Given the description of an element on the screen output the (x, y) to click on. 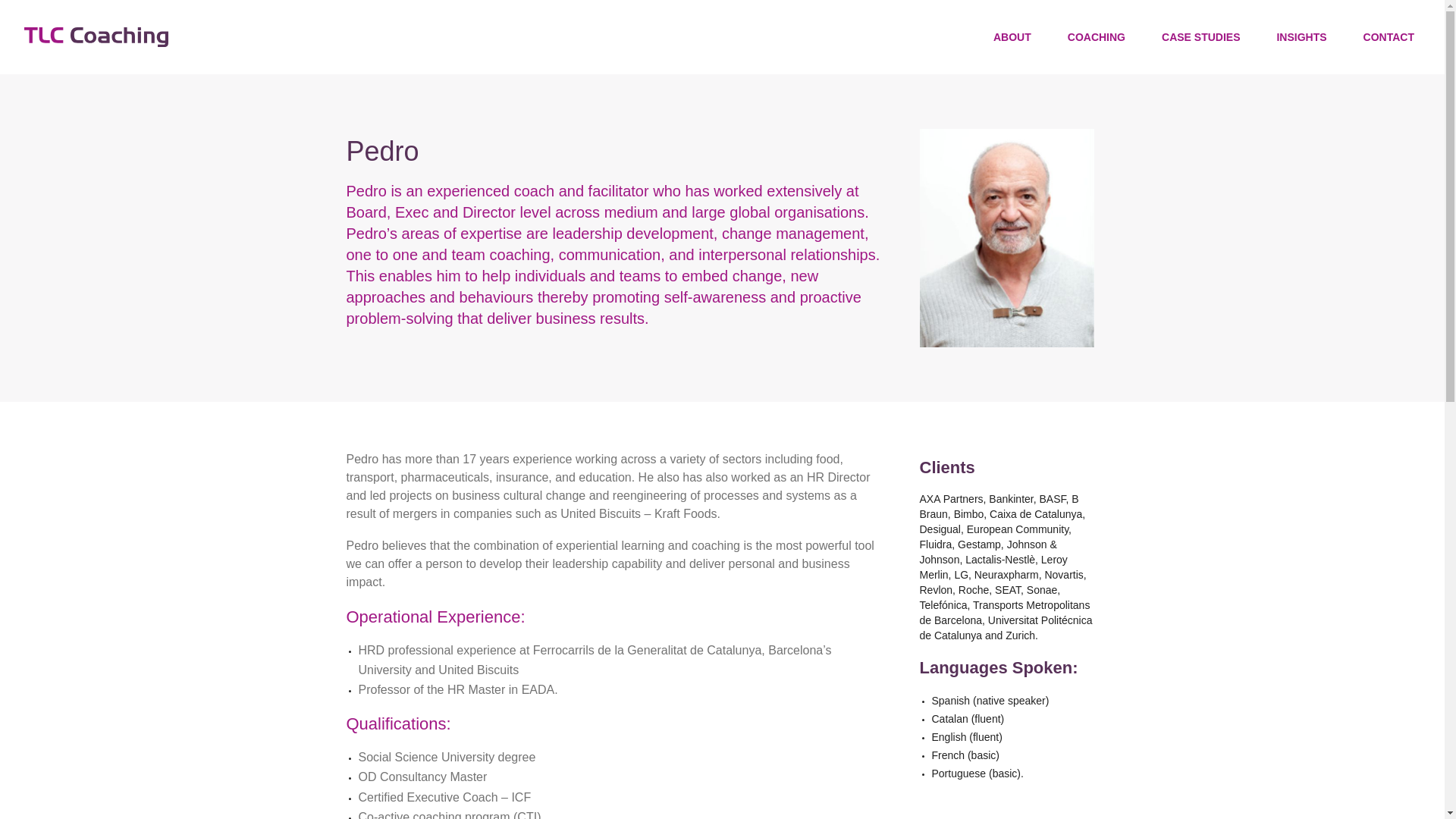
ABOUT (1011, 37)
CASE STUDIES (1200, 37)
CONTACT (1387, 37)
INSIGHTS (1301, 37)
COACHING (1096, 37)
